Given the description of an element on the screen output the (x, y) to click on. 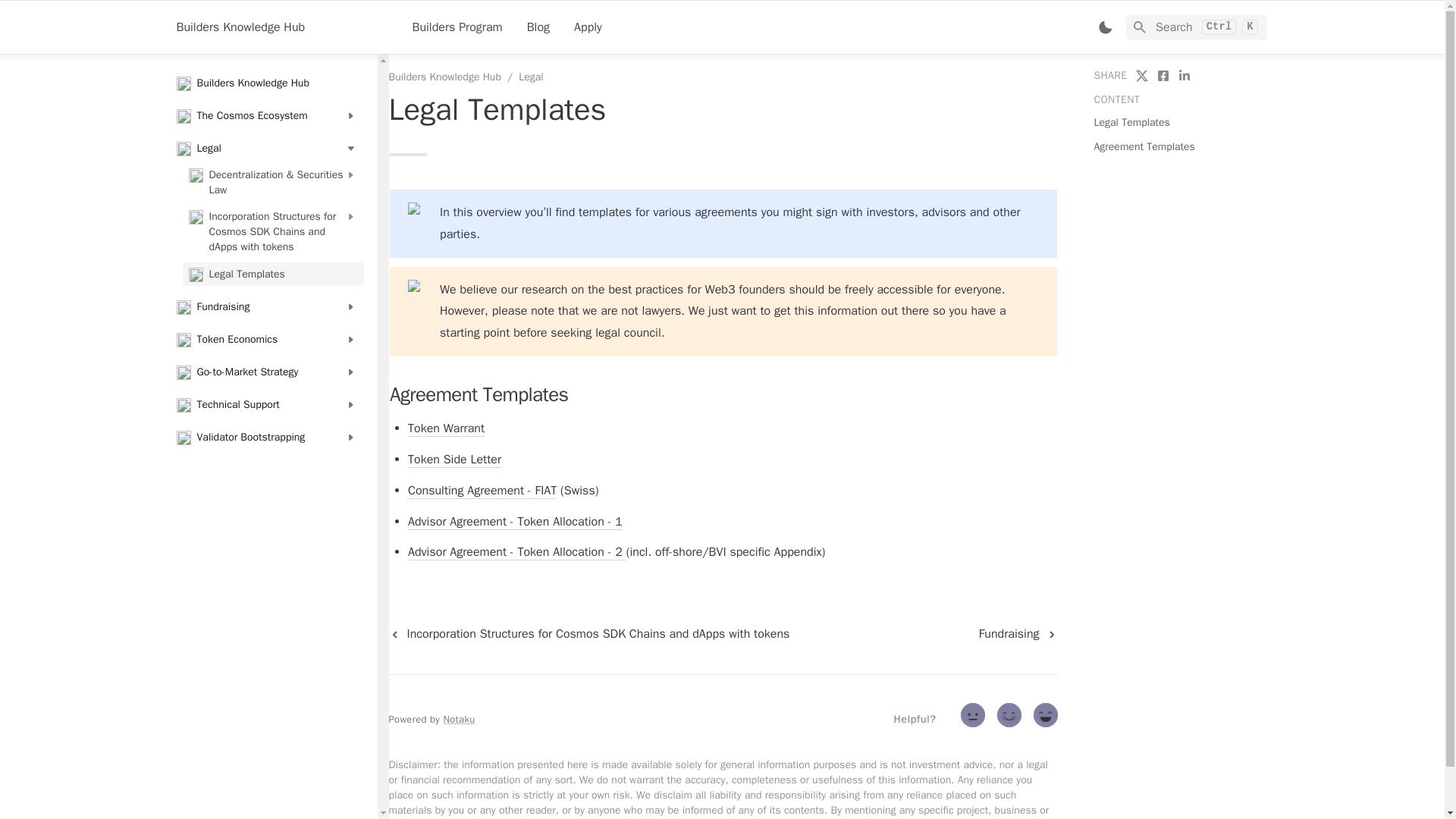
Legal Templates (272, 273)
Legal (530, 77)
Legal (266, 147)
Blog (538, 27)
The Cosmos Ecosystem (1195, 27)
Apply (266, 115)
Builders Knowledge Hub (587, 27)
Token Warrant (266, 83)
Fundraising (445, 428)
Builders Program (1018, 633)
Builders Knowledge Hub (457, 27)
